Given the description of an element on the screen output the (x, y) to click on. 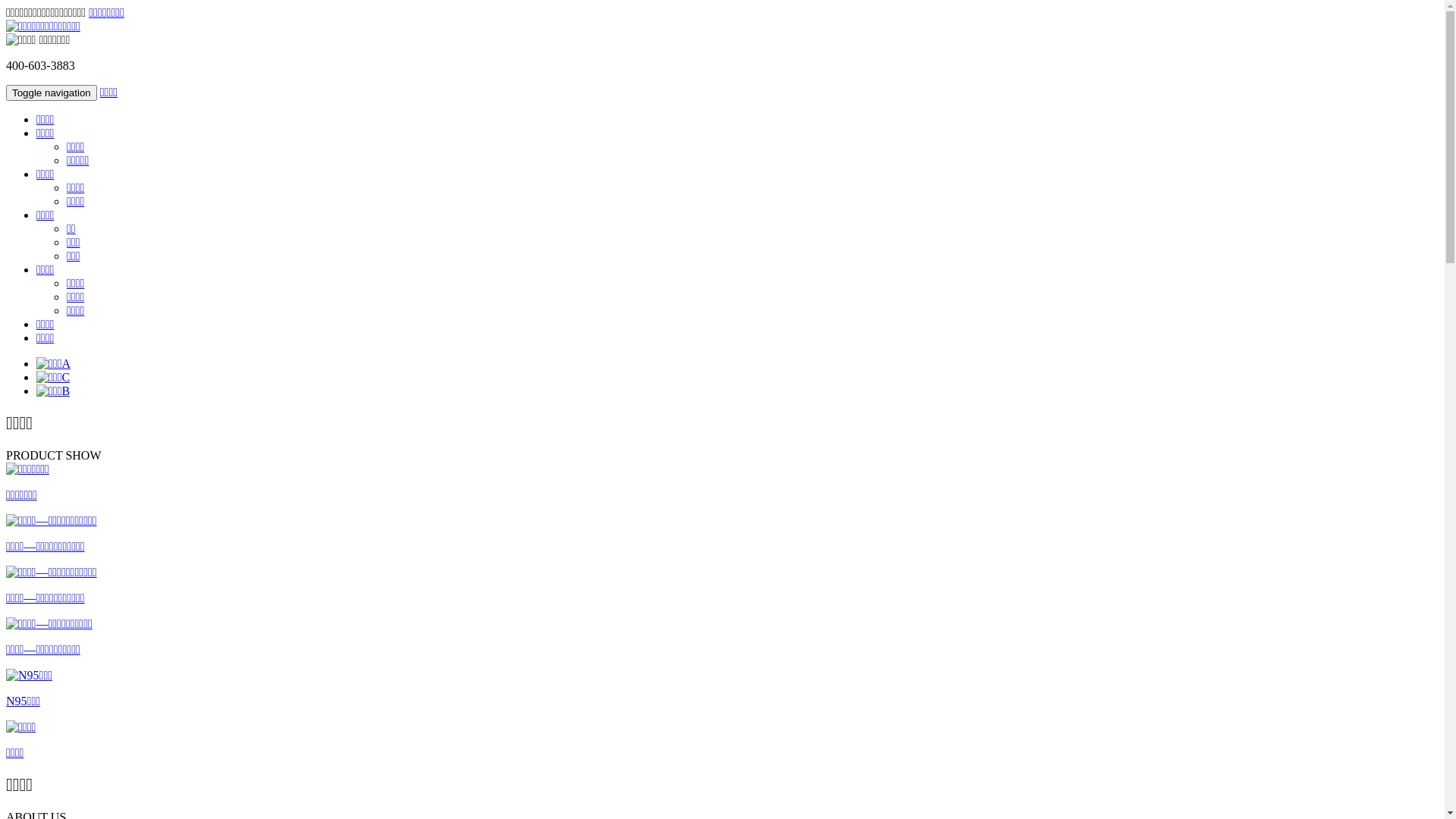
Toggle navigation Element type: text (51, 92)
